Given the description of an element on the screen output the (x, y) to click on. 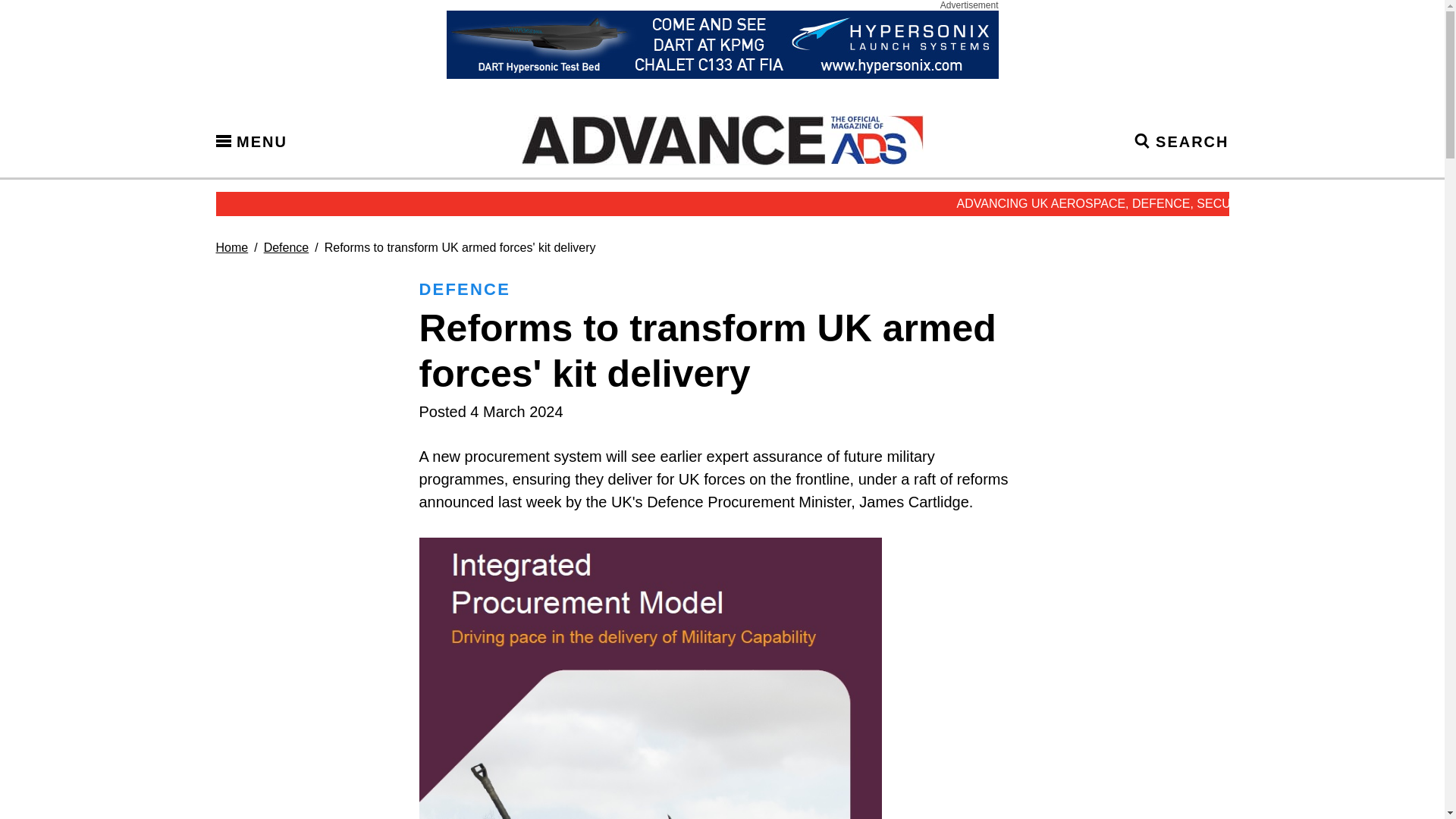
DEFENCE (465, 289)
MENU (250, 140)
Home (231, 246)
Hypersonix FIA (721, 44)
Defence (285, 246)
SEARCH (1181, 140)
